Given the description of an element on the screen output the (x, y) to click on. 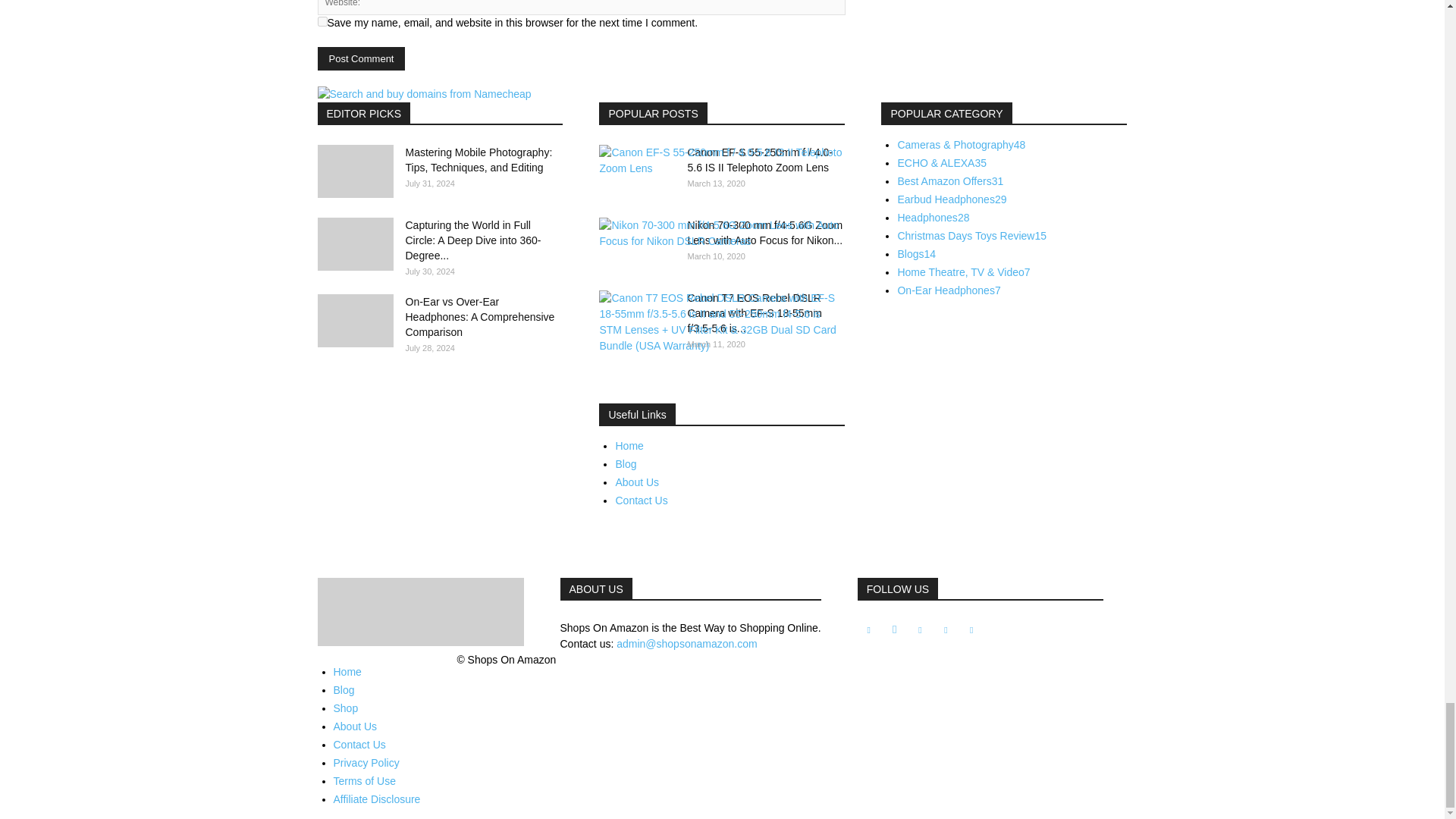
Post Comment (360, 58)
yes (321, 21)
